Given the description of an element on the screen output the (x, y) to click on. 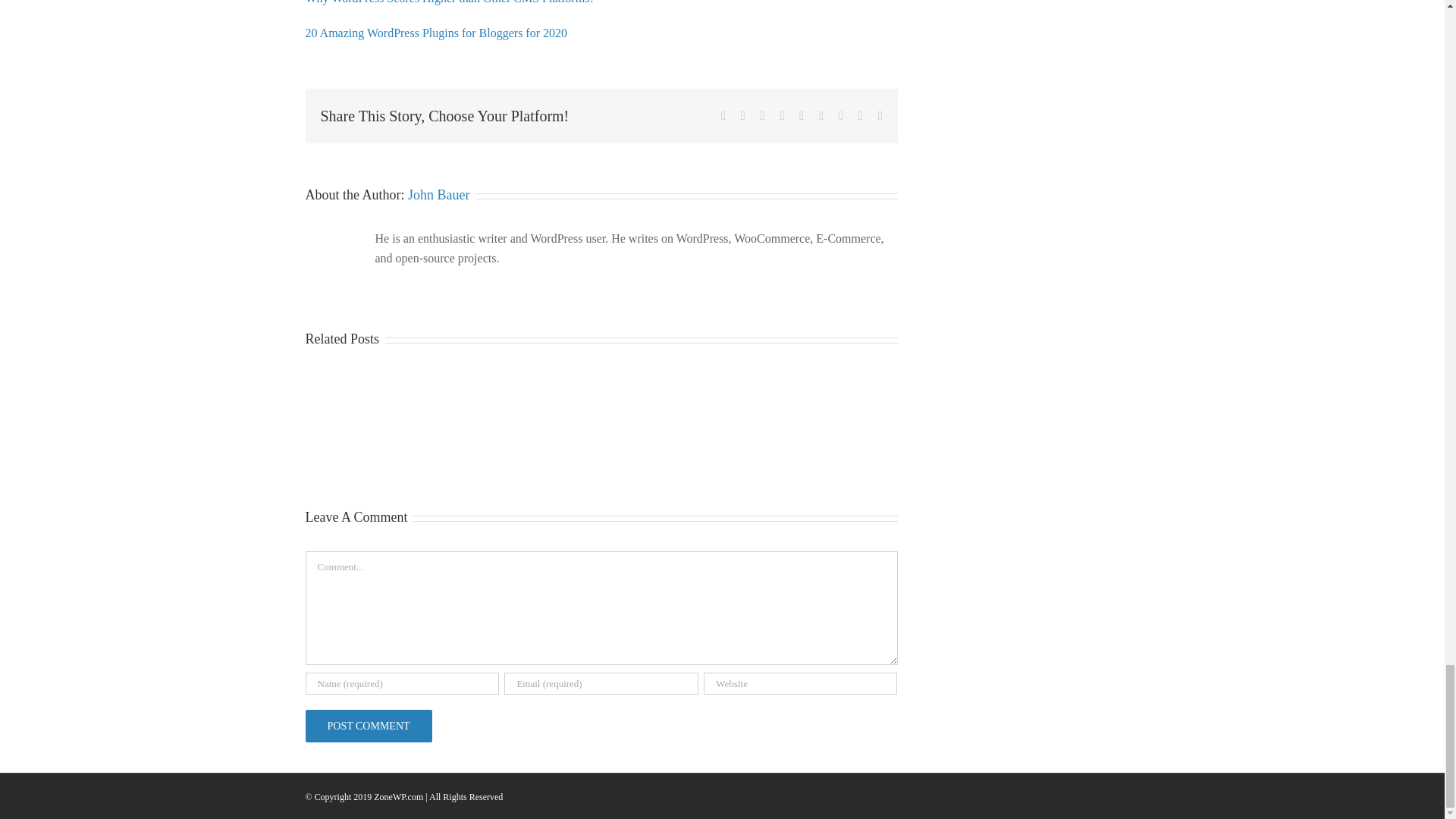
John Bauer (437, 194)
X (743, 115)
20 Amazing WordPress Plugins for Bloggers for 2020 (435, 32)
Why WordPress Scores Higher than Other CMS Platforms? (449, 2)
Facebook (722, 115)
Vk (861, 115)
Pinterest (840, 115)
Tumblr (821, 115)
Email (879, 115)
Post Comment (367, 726)
Posts by John Bauer (437, 194)
WhatsApp (801, 115)
Reddit (762, 115)
LinkedIn (781, 115)
